Given the description of an element on the screen output the (x, y) to click on. 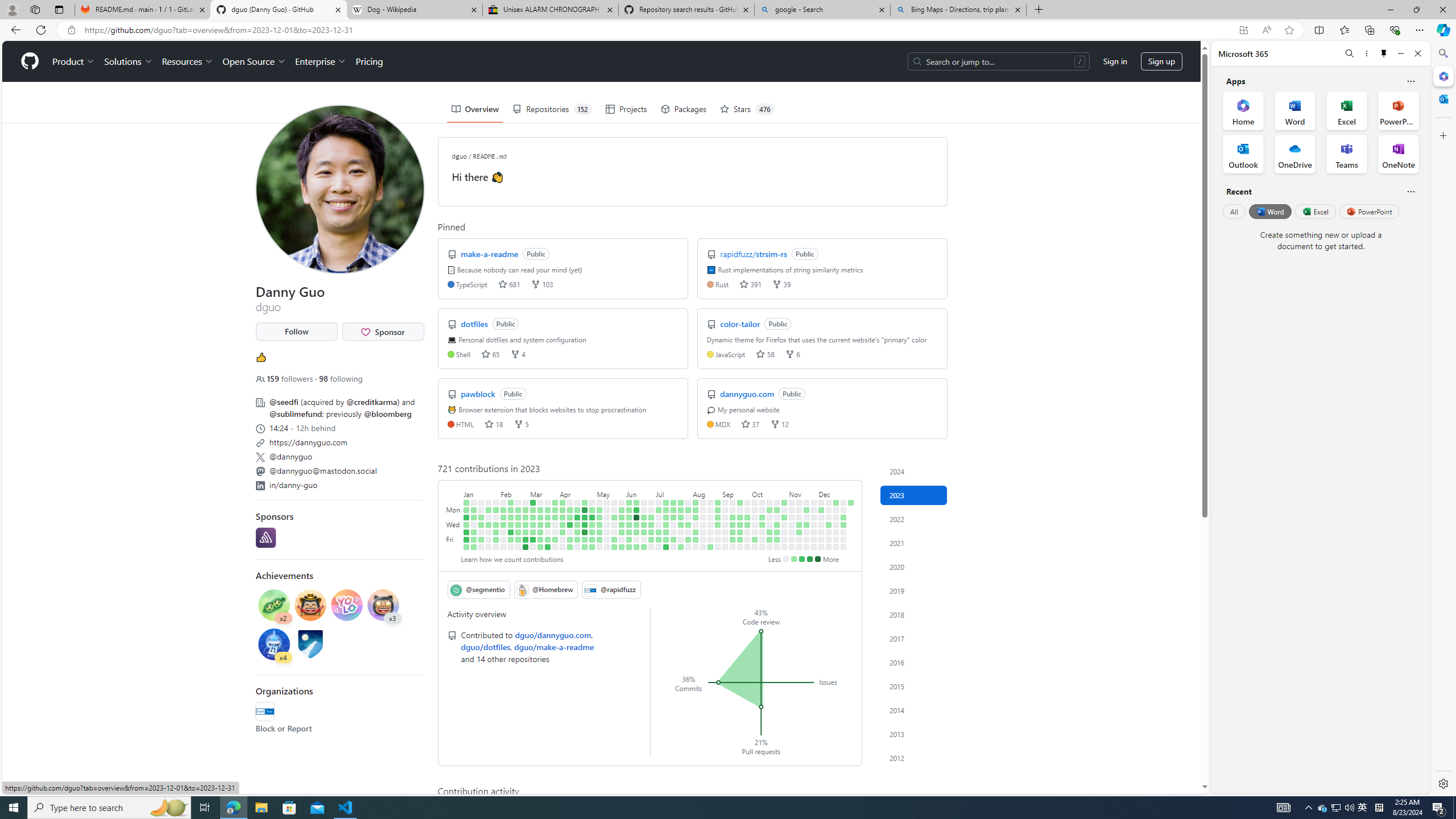
stars 18 (493, 423)
7 contributions on January 4th. (466, 524)
No contributions on May 17th. (607, 524)
dguo (459, 156)
Contribution activity in 2024 (913, 471)
8 contributions on July 23rd. (681, 502)
10 contributions on March 3rd. (525, 539)
3 contributions on September 20th. (740, 524)
No contributions on December 9th. (821, 546)
1 contribution on January 17th. (481, 517)
Block or Report (282, 728)
No contributions on September 30th. (747, 546)
